Given the description of an element on the screen output the (x, y) to click on. 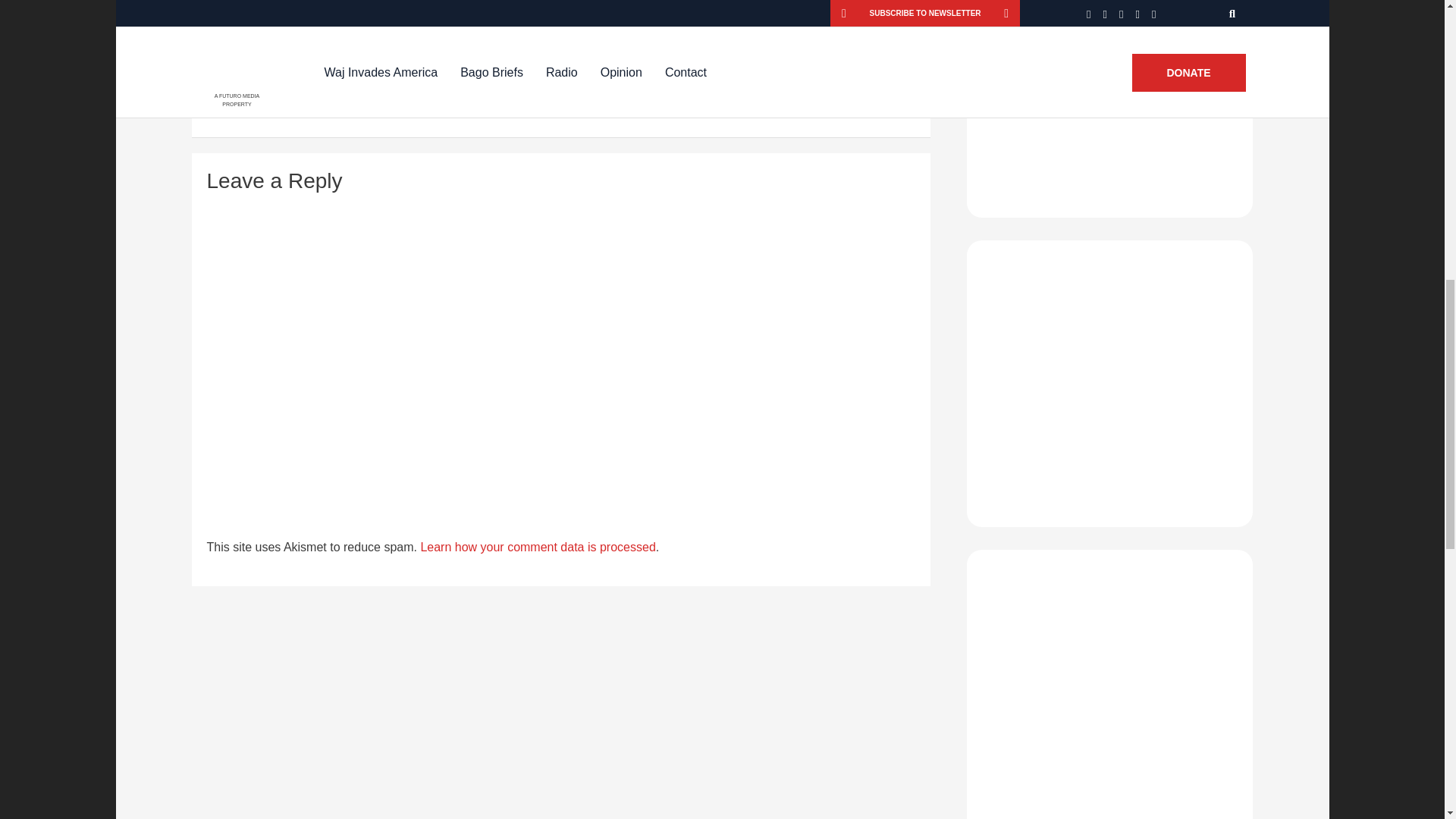
Democracy in Doubt (325, 8)
All the Other Barbies (679, 8)
Twitter (350, 88)
Reddit (418, 88)
Neuro-Inclusivity, Belonging and Radical Hospitality (502, 8)
Click to share on Reddit (418, 88)
Click to share on Twitter (350, 88)
Click to email a link to a friend (631, 88)
Click to share on LinkedIn (490, 88)
Click to share on Tumblr (564, 88)
Facebook (274, 88)
Click to share on Facebook (274, 88)
Tumblr (564, 88)
LinkedIn (490, 88)
